Given the description of an element on the screen output the (x, y) to click on. 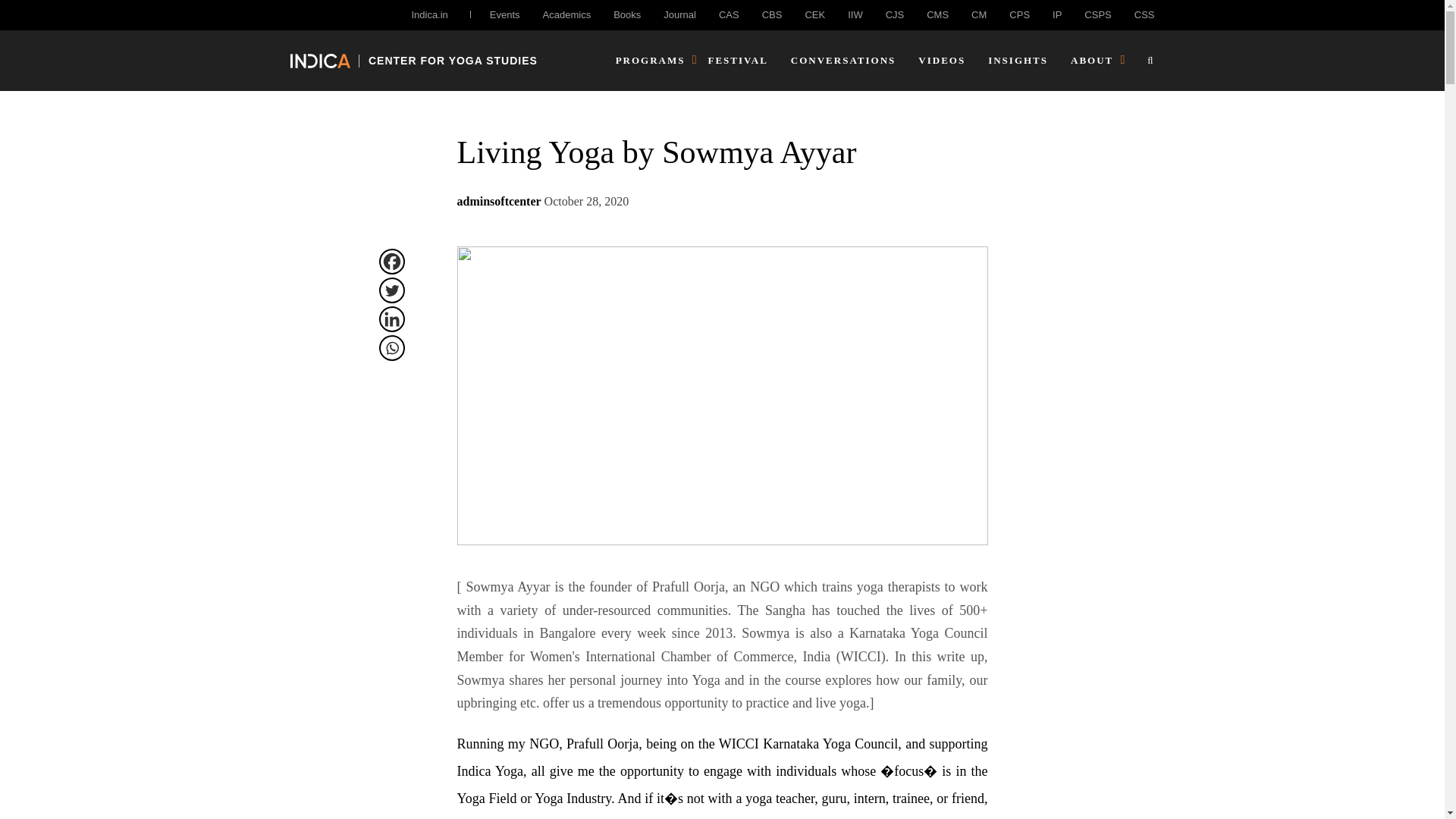
Academics (567, 14)
CM (979, 14)
CSPS (1097, 14)
FESTIVAL (737, 60)
Indica.in (428, 14)
Events (504, 14)
Journal (679, 14)
CPS (1019, 14)
INSIGHTS (1018, 60)
VIDEOS (941, 60)
